Given the description of an element on the screen output the (x, y) to click on. 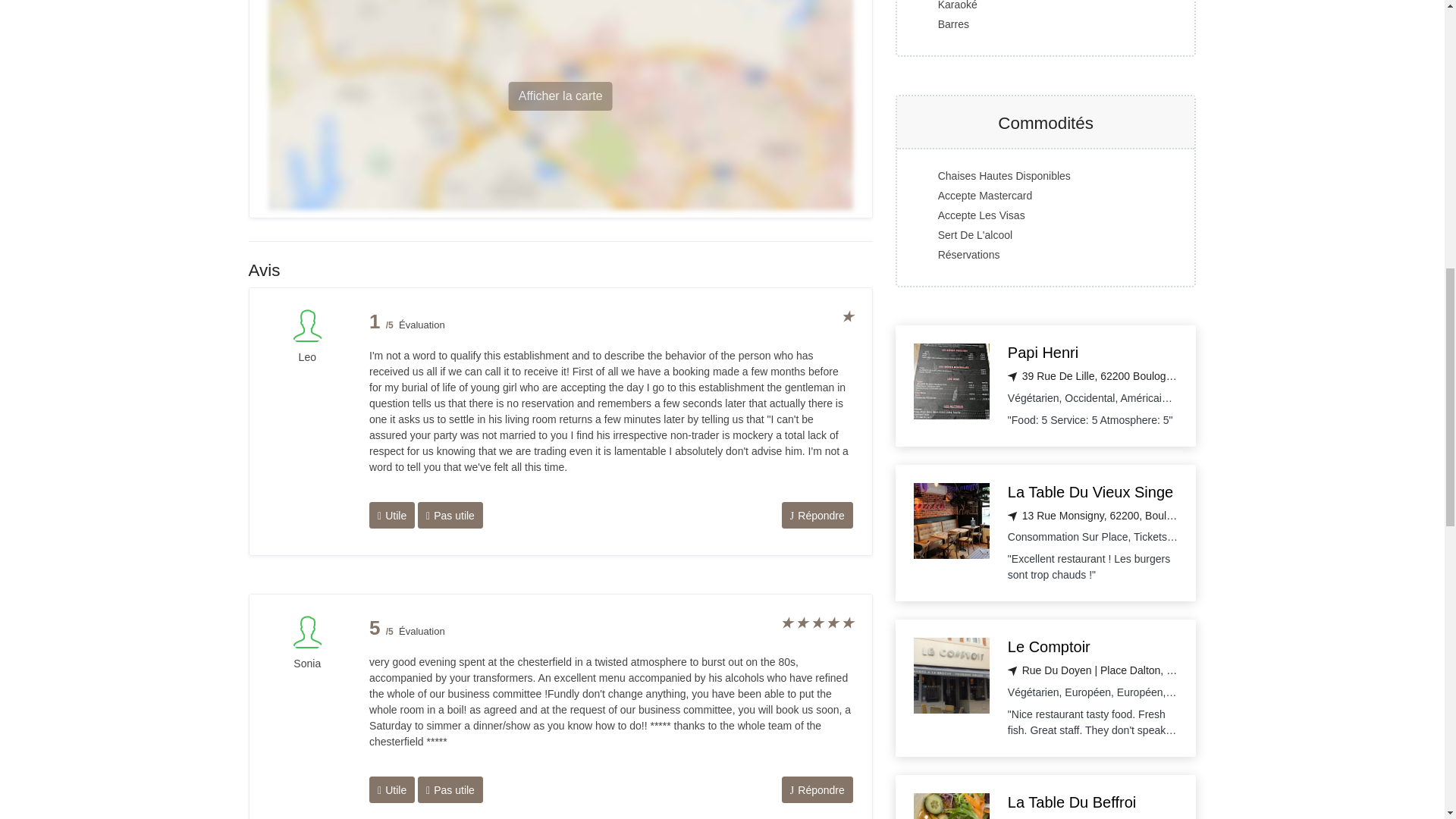
Utile (391, 515)
Pas utile (450, 515)
Afficher la carte (560, 95)
